Given the description of an element on the screen output the (x, y) to click on. 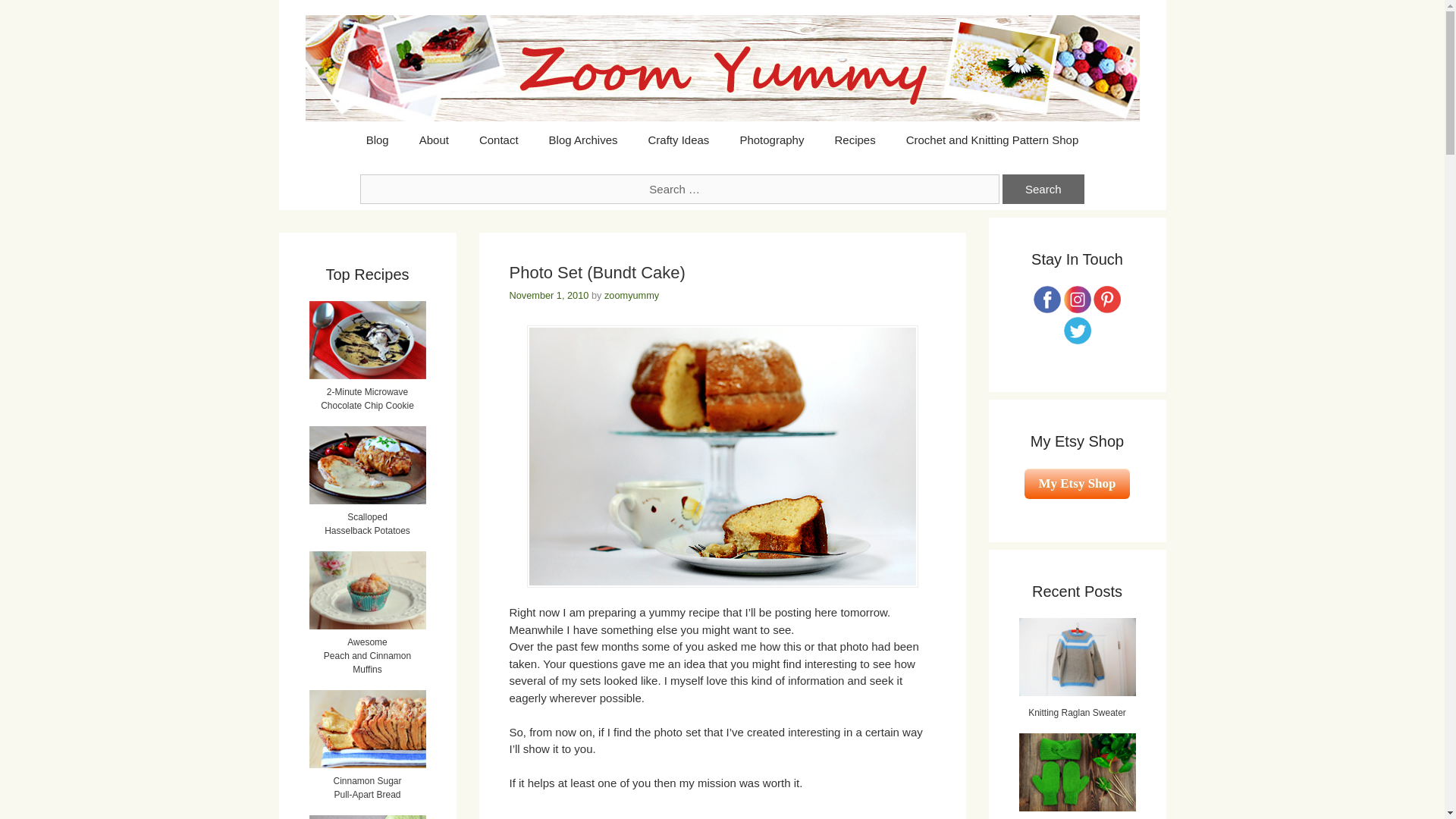
Search (1043, 188)
Crafty Ideas (677, 140)
bundt-cake-set (721, 456)
Photography (770, 140)
Recipes (853, 140)
Crochet and Knitting Pattern Shop (992, 140)
November 1, 2010 (549, 295)
Search for: (678, 188)
View all posts by zoomyummy (631, 295)
Search (1043, 188)
zoomyummy (631, 295)
11:02 pm (549, 295)
About (434, 140)
Search (1043, 188)
Blog Archives (583, 140)
